Given the description of an element on the screen output the (x, y) to click on. 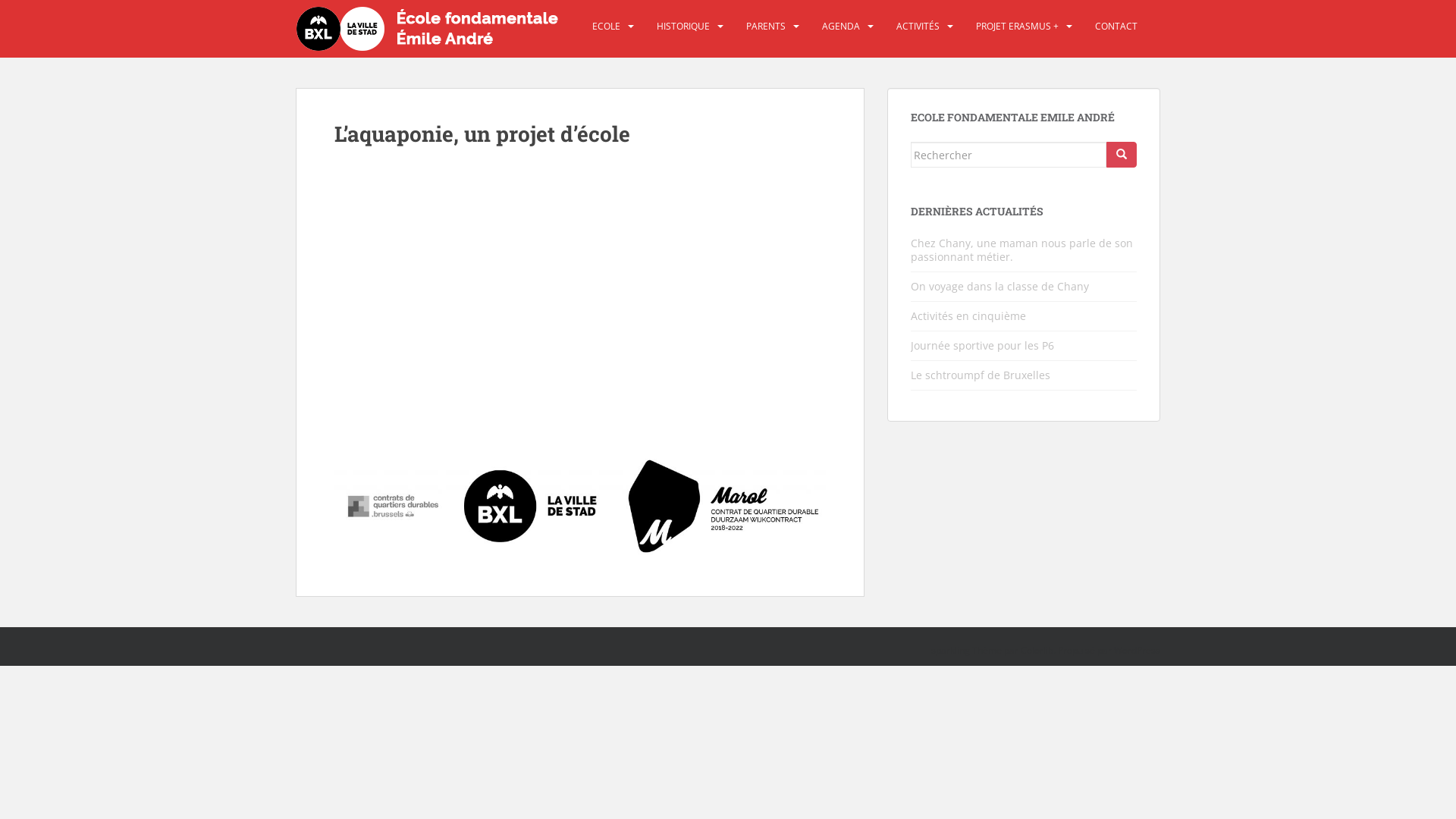
WordPress Element type: text (1136, 649)
Rechercher... Element type: hover (1008, 154)
Colorlib Element type: text (1036, 649)
Rechercher Element type: text (1121, 154)
Le schtroumpf de Bruxelles Element type: text (980, 374)
PARENTS Element type: text (765, 26)
AGENDA Element type: text (840, 26)
On voyage dans la classe de Chany Element type: text (999, 286)
HISTORIQUE Element type: text (682, 26)
ECOLE Element type: text (606, 26)
PROJET ERASMUS + Element type: text (1016, 26)
CONTACT Element type: text (1116, 26)
